Given the description of an element on the screen output the (x, y) to click on. 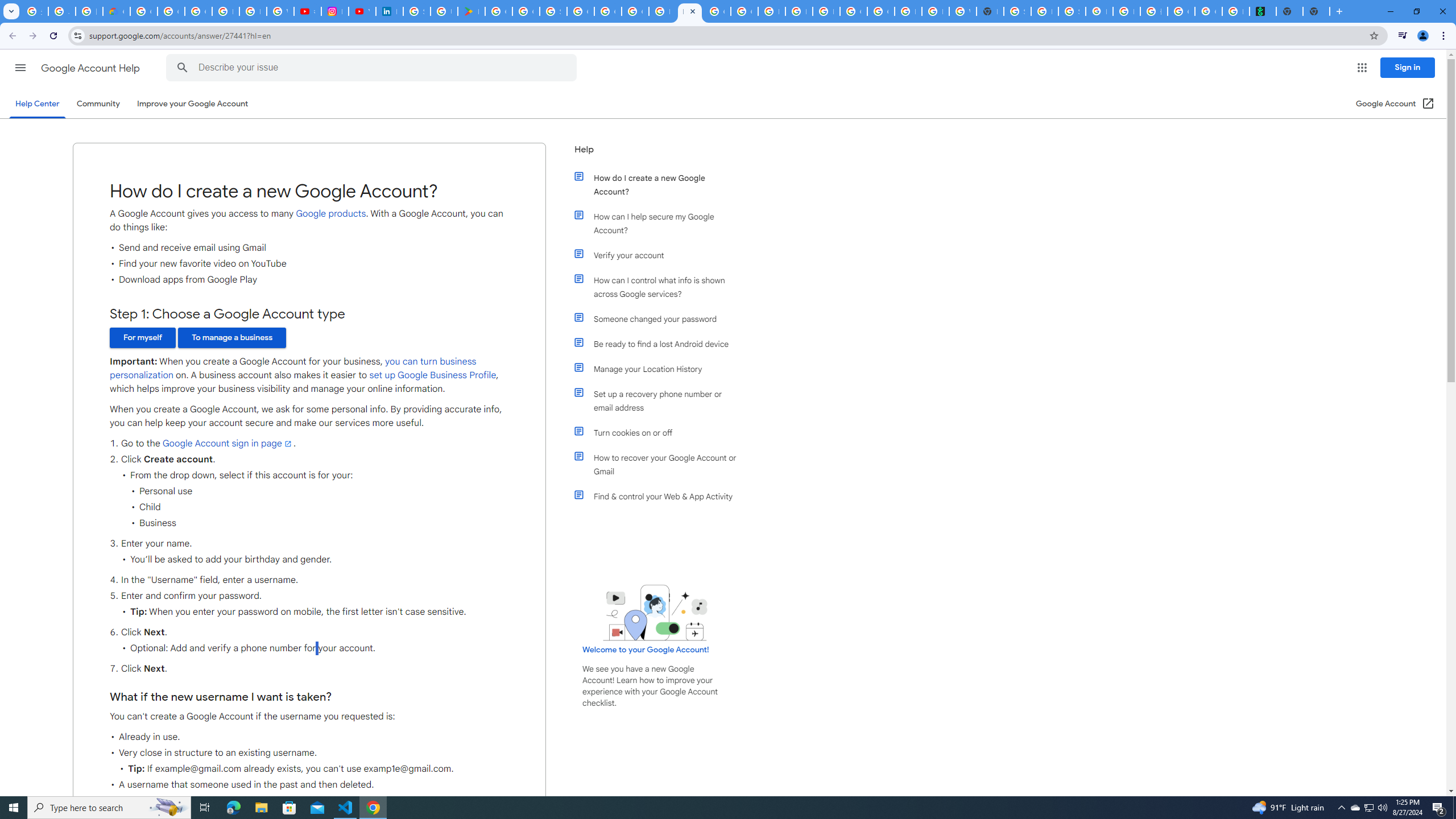
How do I create a new Google Account? (661, 184)
Describe your issue (373, 67)
Main menu (20, 67)
Google Account sign in page (227, 443)
Google products (330, 213)
#nbabasketballhighlights - YouTube (307, 11)
Google Account Help (91, 68)
Sign in - Google Accounts (1017, 11)
Browse Chrome as a guest - Computer - Google Chrome Help (771, 11)
